Given the description of an element on the screen output the (x, y) to click on. 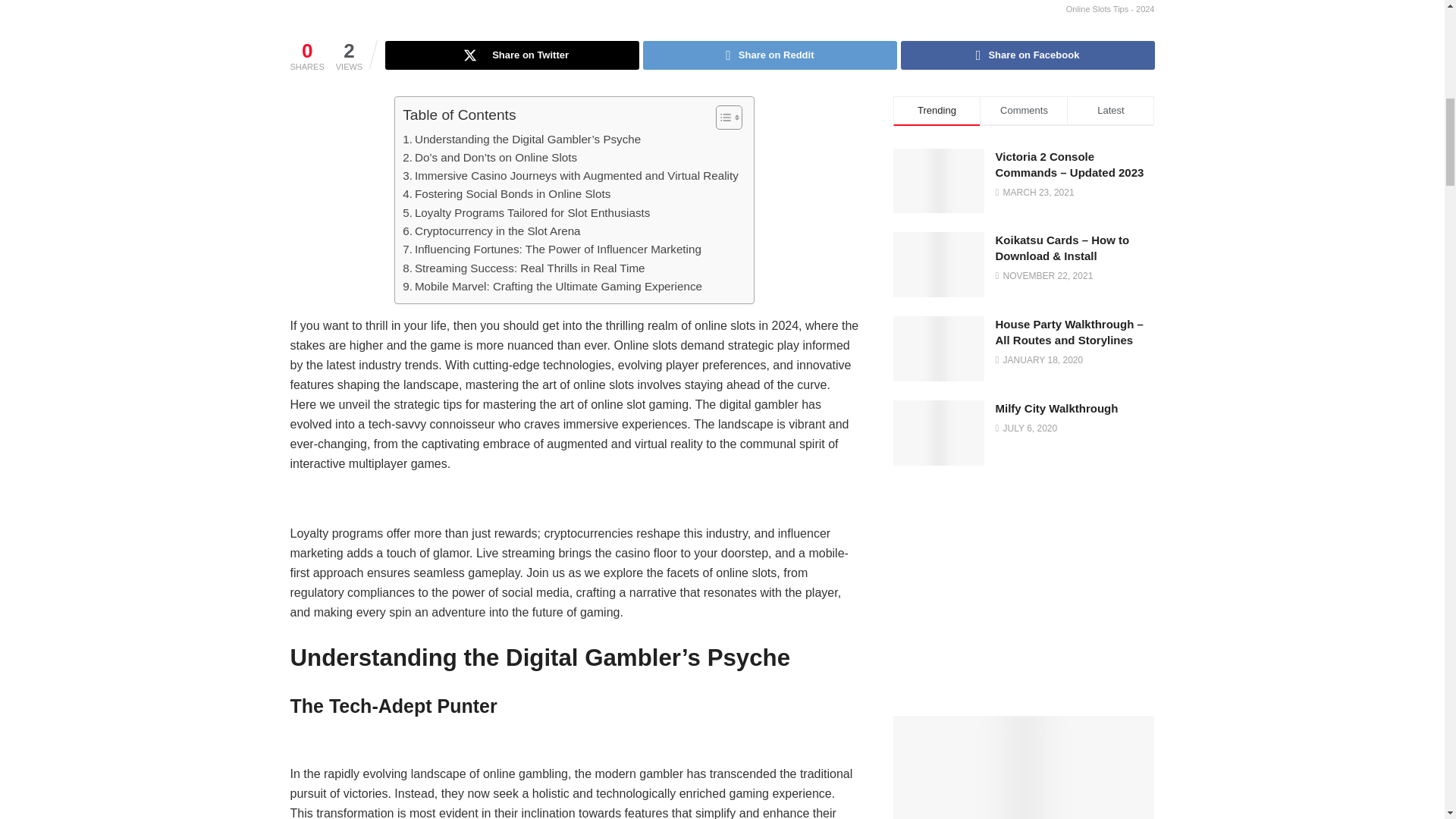
Loyalty Programs Tailored for Slot Enthusiasts (526, 212)
Mobile Marvel: Crafting the Ultimate Gaming Experience (552, 286)
Immersive Casino Journeys with Augmented and Virtual Reality (570, 176)
Fostering Social Bonds in Online Slots (506, 194)
Influencing Fortunes: The Power of Influencer Marketing (552, 249)
Streaming Success: Real Thrills in Real Time (524, 268)
Cryptocurrency in the Slot Arena (491, 230)
